Given the description of an element on the screen output the (x, y) to click on. 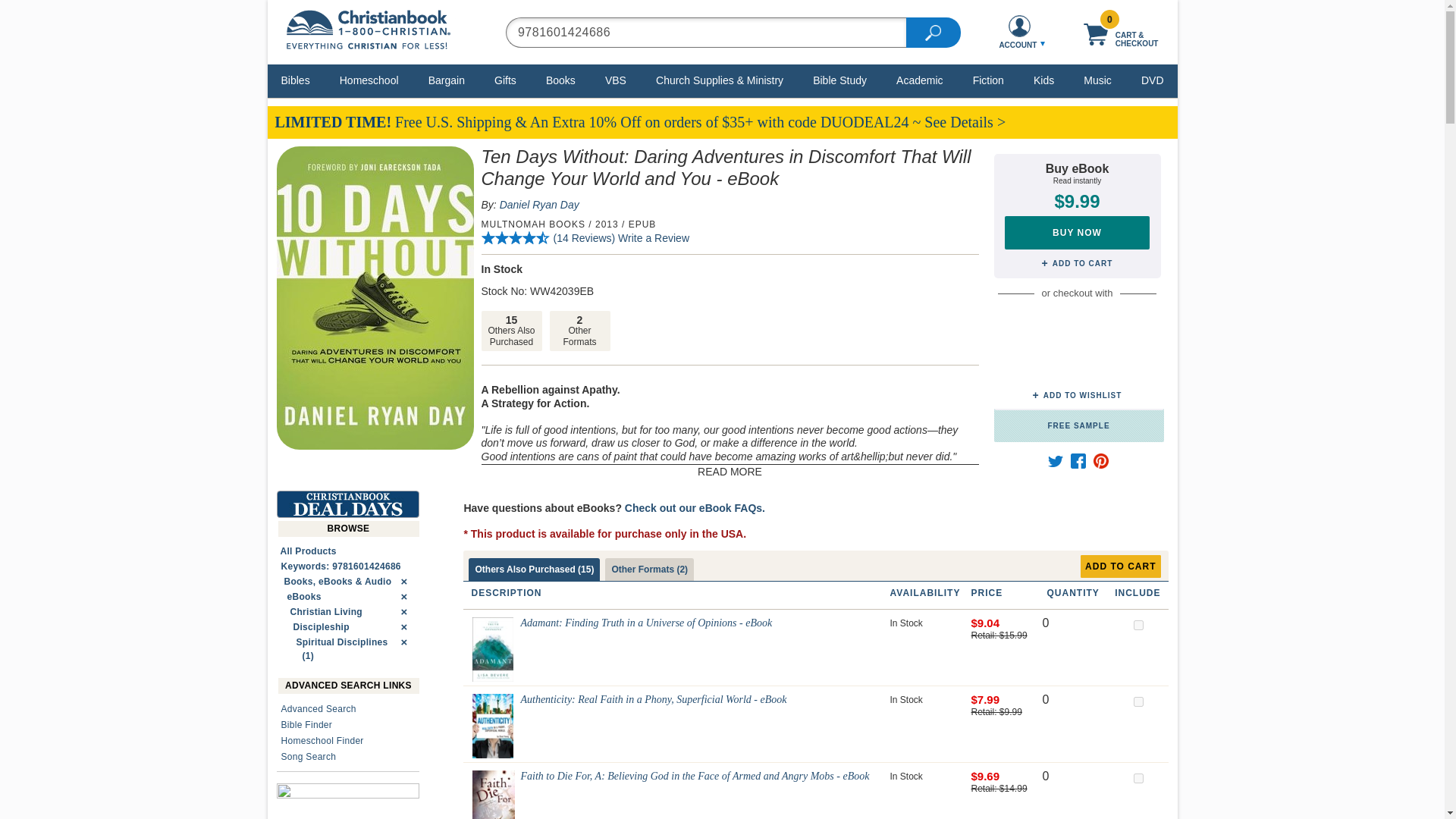
Gifts (505, 79)
9781601424686 (705, 31)
27089EB (1137, 701)
Adamant: Finding Truth in a Universe of Opinions - eBook (492, 649)
DVD (1152, 79)
Write a Review (652, 237)
46099EB (1137, 777)
BUY NOW (1077, 232)
Music (1097, 79)
Bibles (295, 79)
Homeschool (369, 79)
Bargain (446, 79)
ACCOUNT (1019, 32)
Fiction (988, 79)
SEARCH (932, 31)
